Given the description of an element on the screen output the (x, y) to click on. 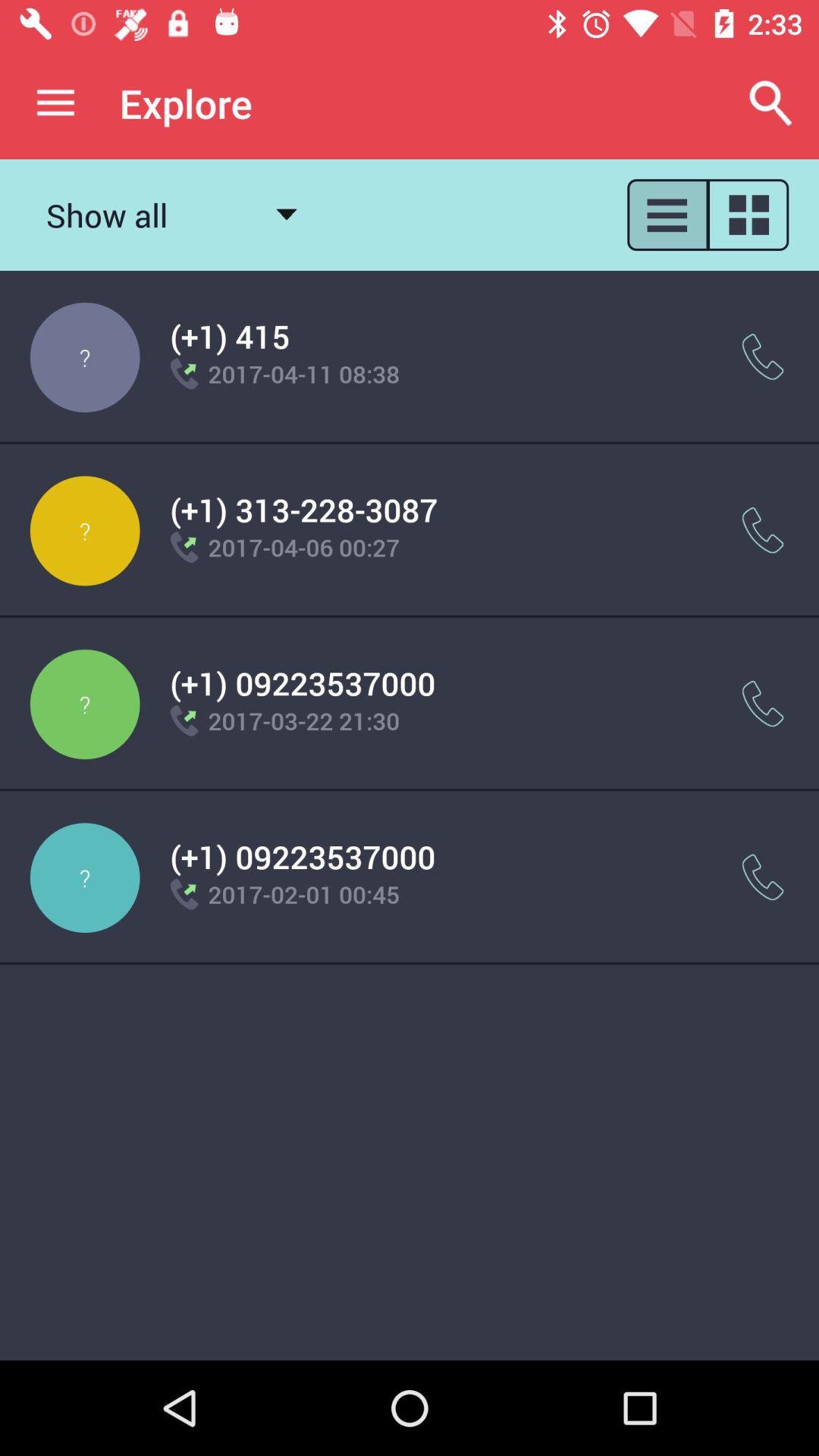
press app to the right of explore app (771, 103)
